Given the description of an element on the screen output the (x, y) to click on. 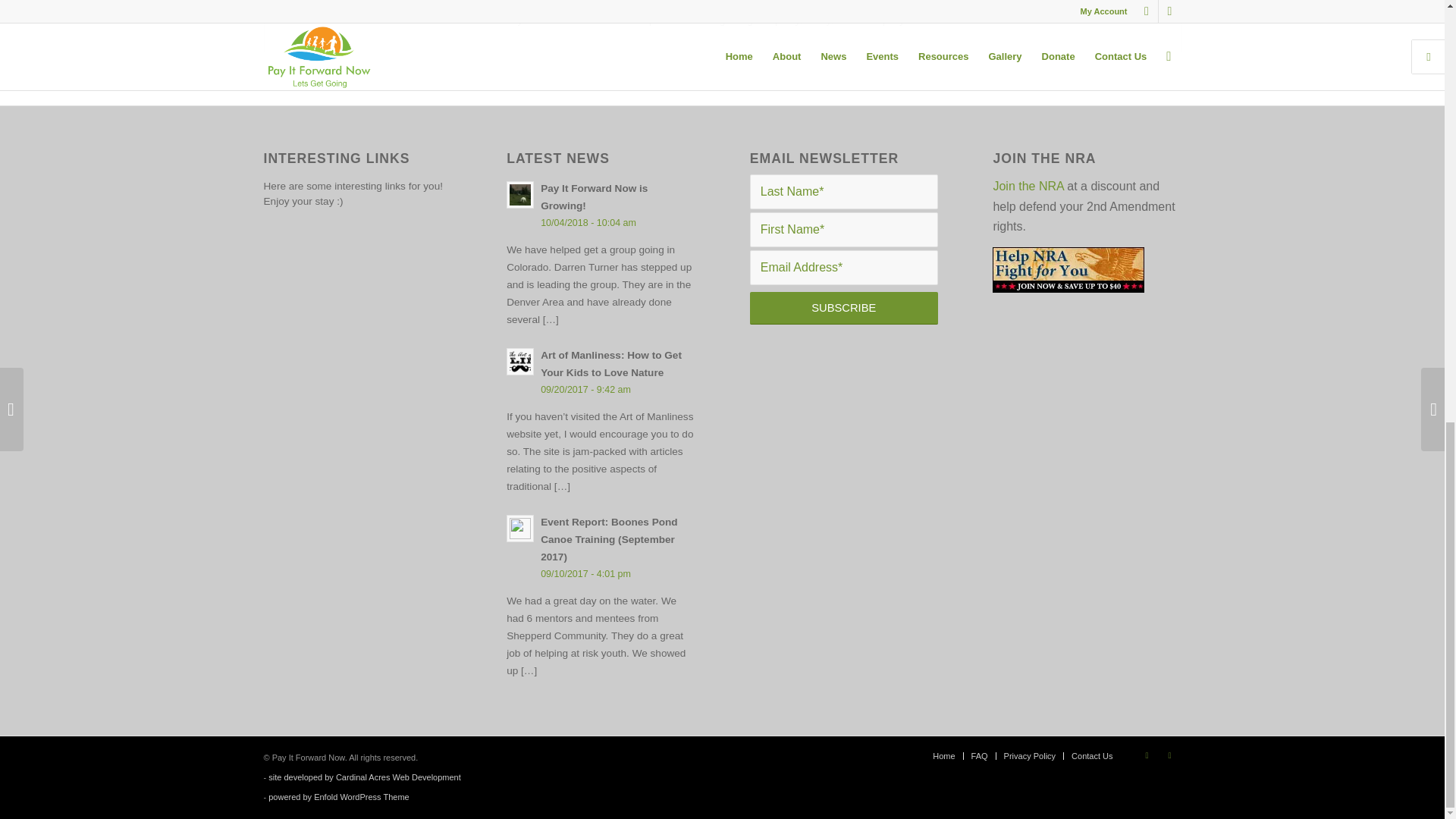
Pay It Forward Now is Growing! (600, 204)
SUBSCRIBE (843, 307)
Art of Manliness: How to Get Your Kids to Love Nature (600, 371)
